Given the description of an element on the screen output the (x, y) to click on. 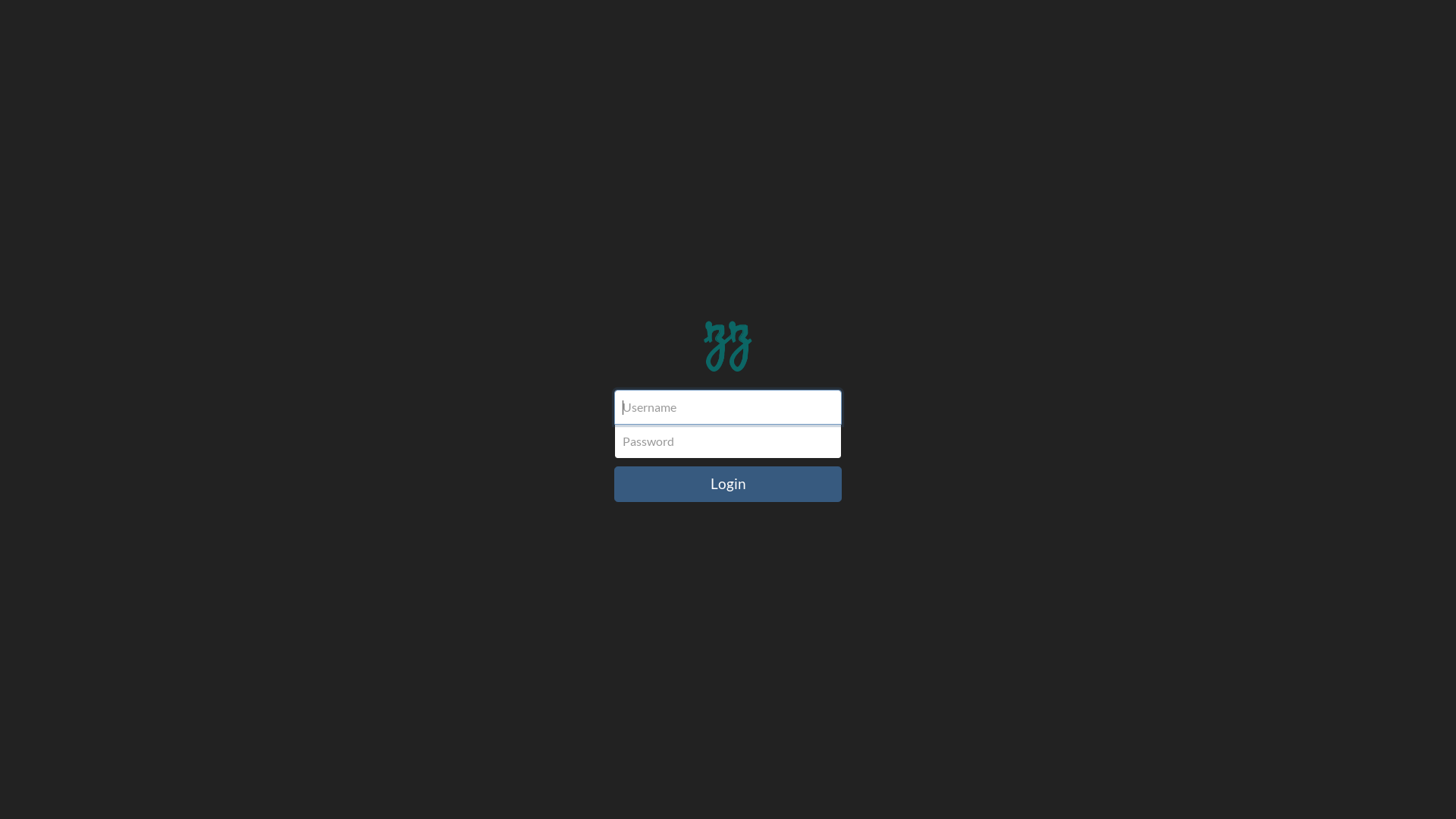
Login Element type: text (727, 483)
